Given the description of an element on the screen output the (x, y) to click on. 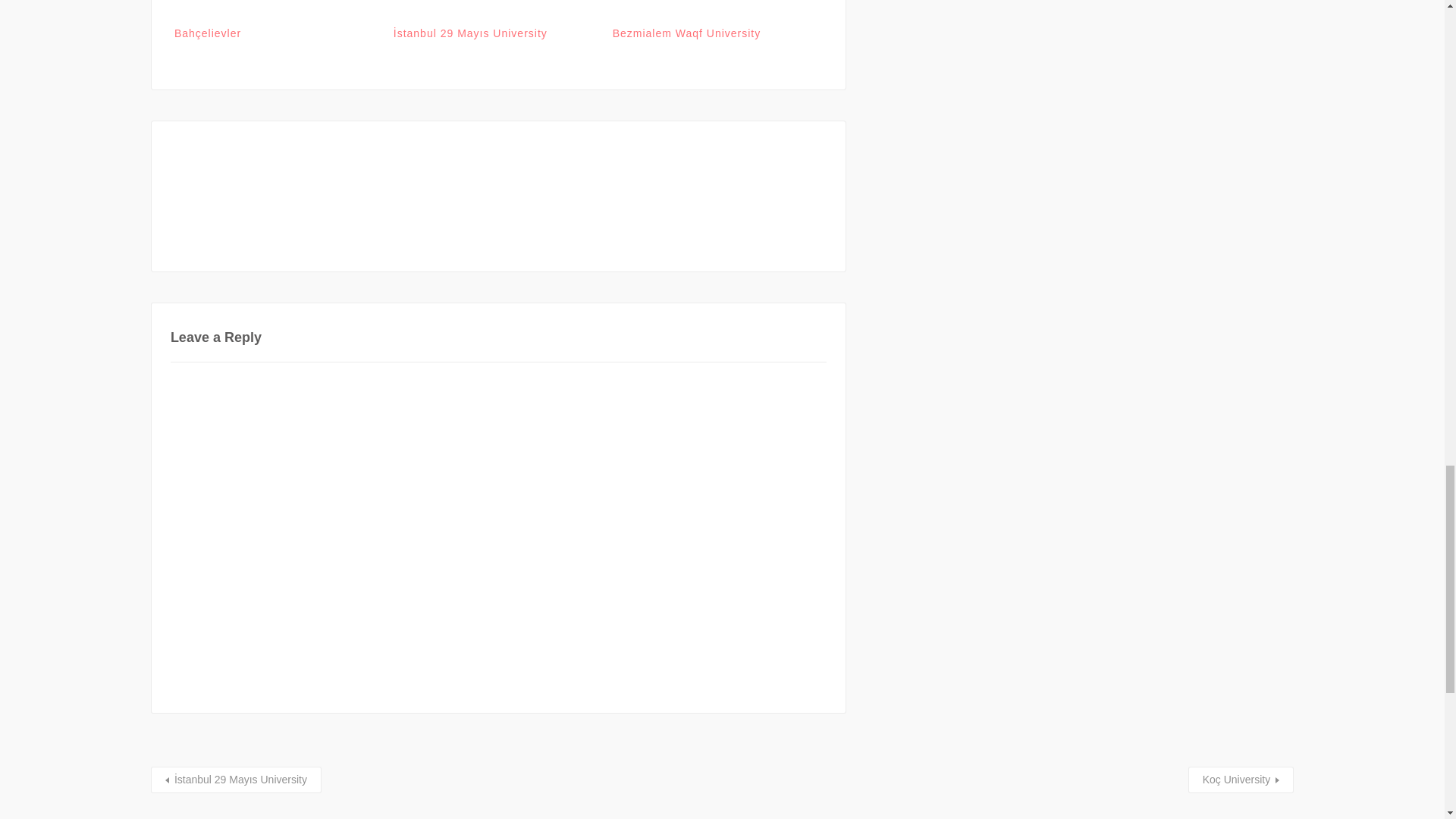
GetYourGuide Widget (498, 196)
Bezmialem Waqf University (686, 33)
Bezmialem Waqf University (714, 12)
